Given the description of an element on the screen output the (x, y) to click on. 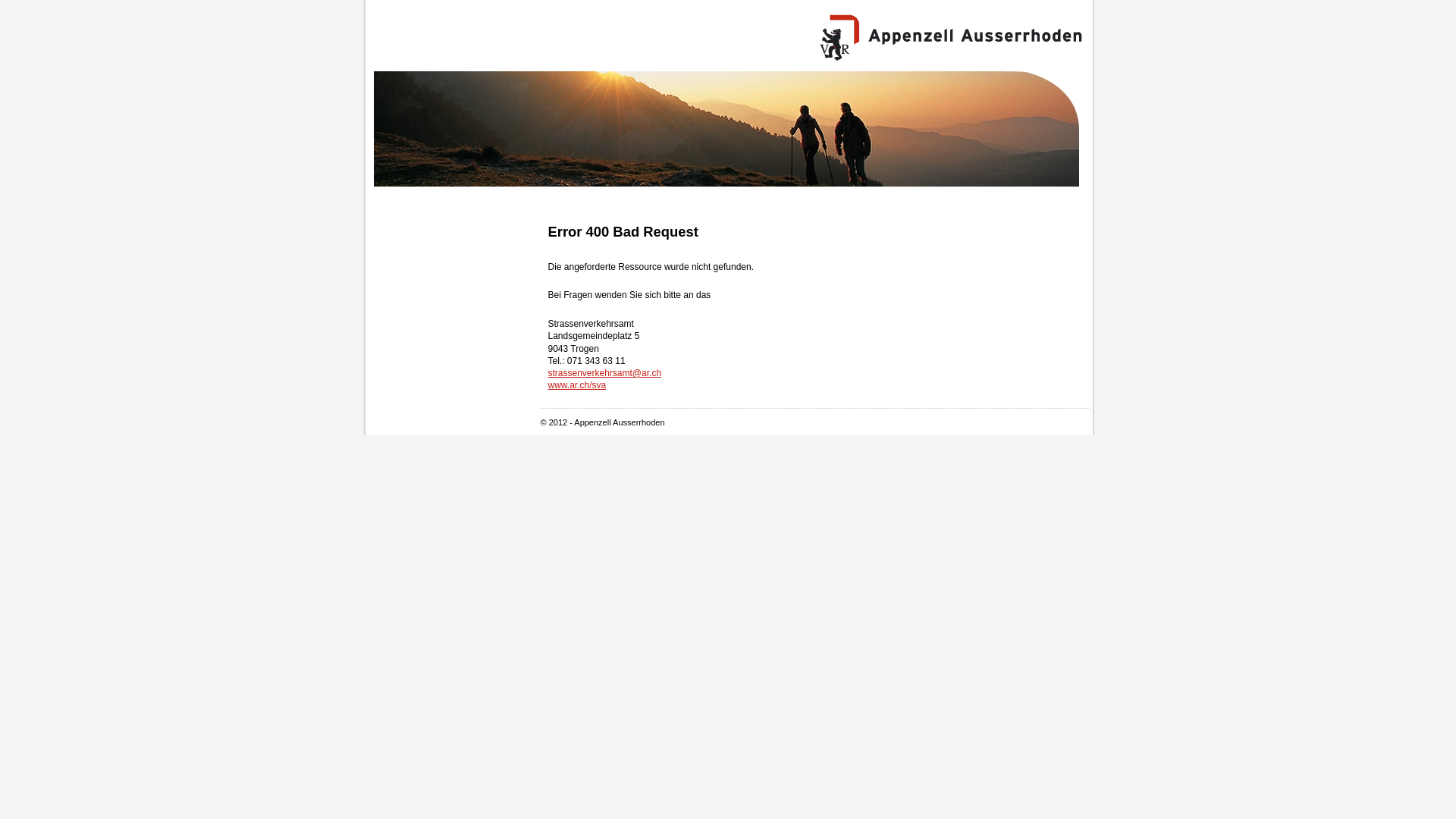
Appenzell Ausserrhoden Element type: hover (725, 128)
strassenverkehrsamt@ar.ch Element type: text (604, 372)
Appenzell Ausserrhoden Element type: hover (950, 37)
www.ar.ch/sva Element type: text (576, 384)
